Given the description of an element on the screen output the (x, y) to click on. 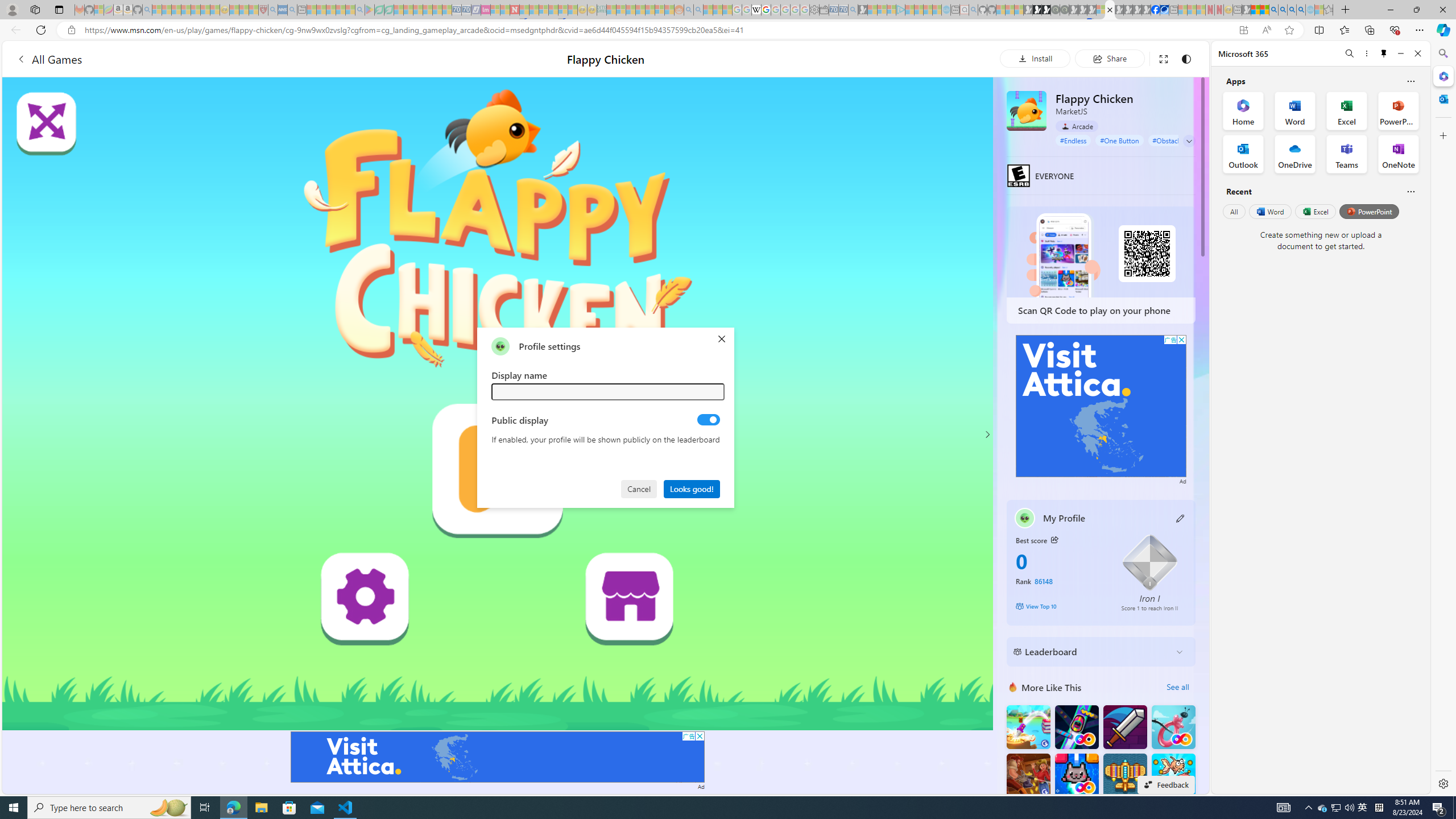
Browser essentials (1394, 29)
Read aloud this page (Ctrl+Shift+U) (1266, 29)
PowerPoint Office App (1398, 110)
